Given the description of an element on the screen output the (x, y) to click on. 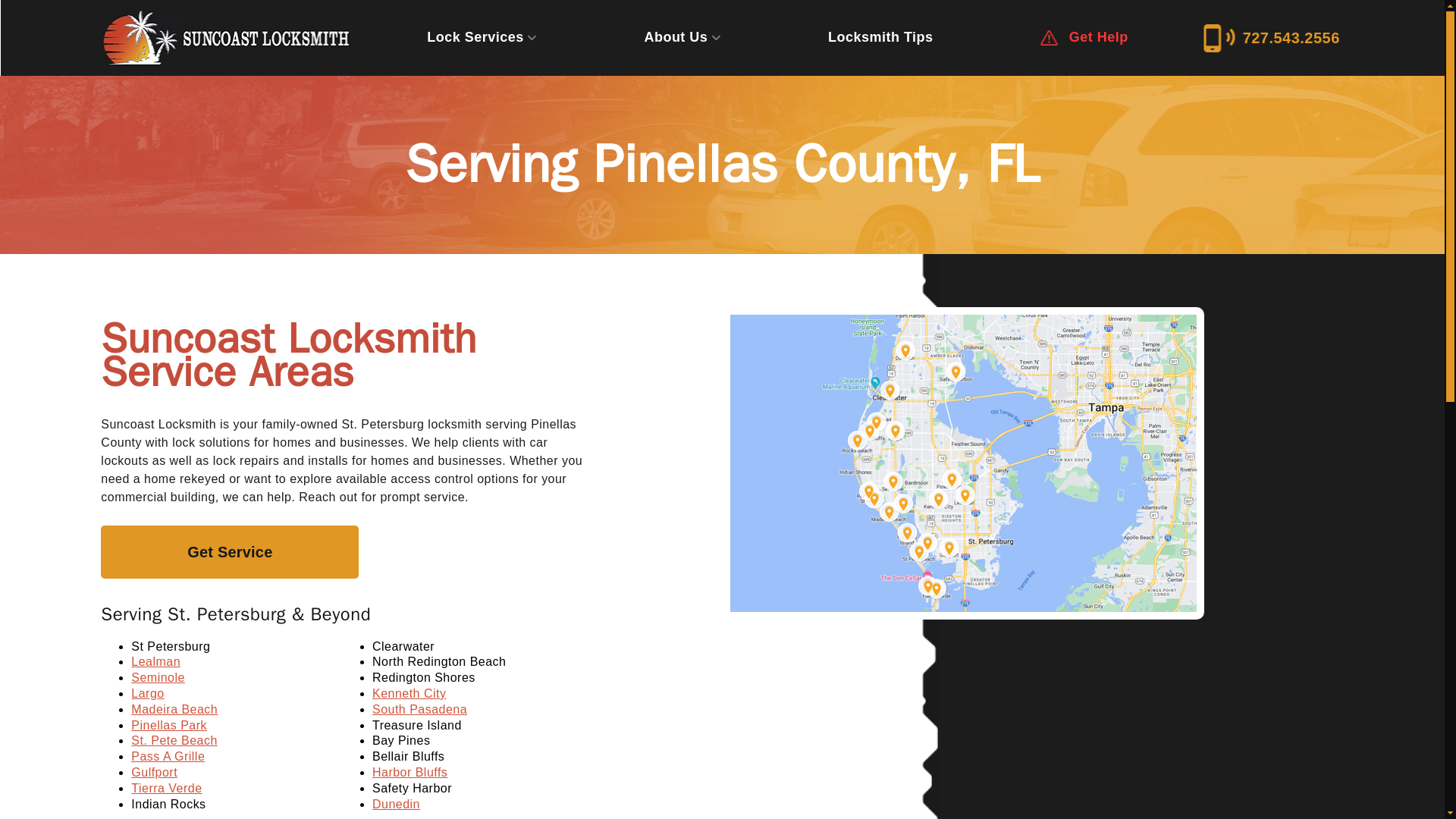
Get Help (1083, 38)
Contact Suncoast Locksmith (1273, 38)
Dunedin (396, 803)
Get Help From A Locksmith (229, 551)
Pinellas Park (168, 725)
Madeira Beach (173, 708)
Get Emergency Lockout Help (1083, 38)
Suncoast Locksmith of St. Petersburg (225, 38)
727.543.2556 (1273, 38)
See our locksmith services (480, 37)
Largo (147, 693)
Get Service (229, 551)
Lock Services (480, 37)
Our Blog (880, 37)
Gulfport (154, 771)
